Given the description of an element on the screen output the (x, y) to click on. 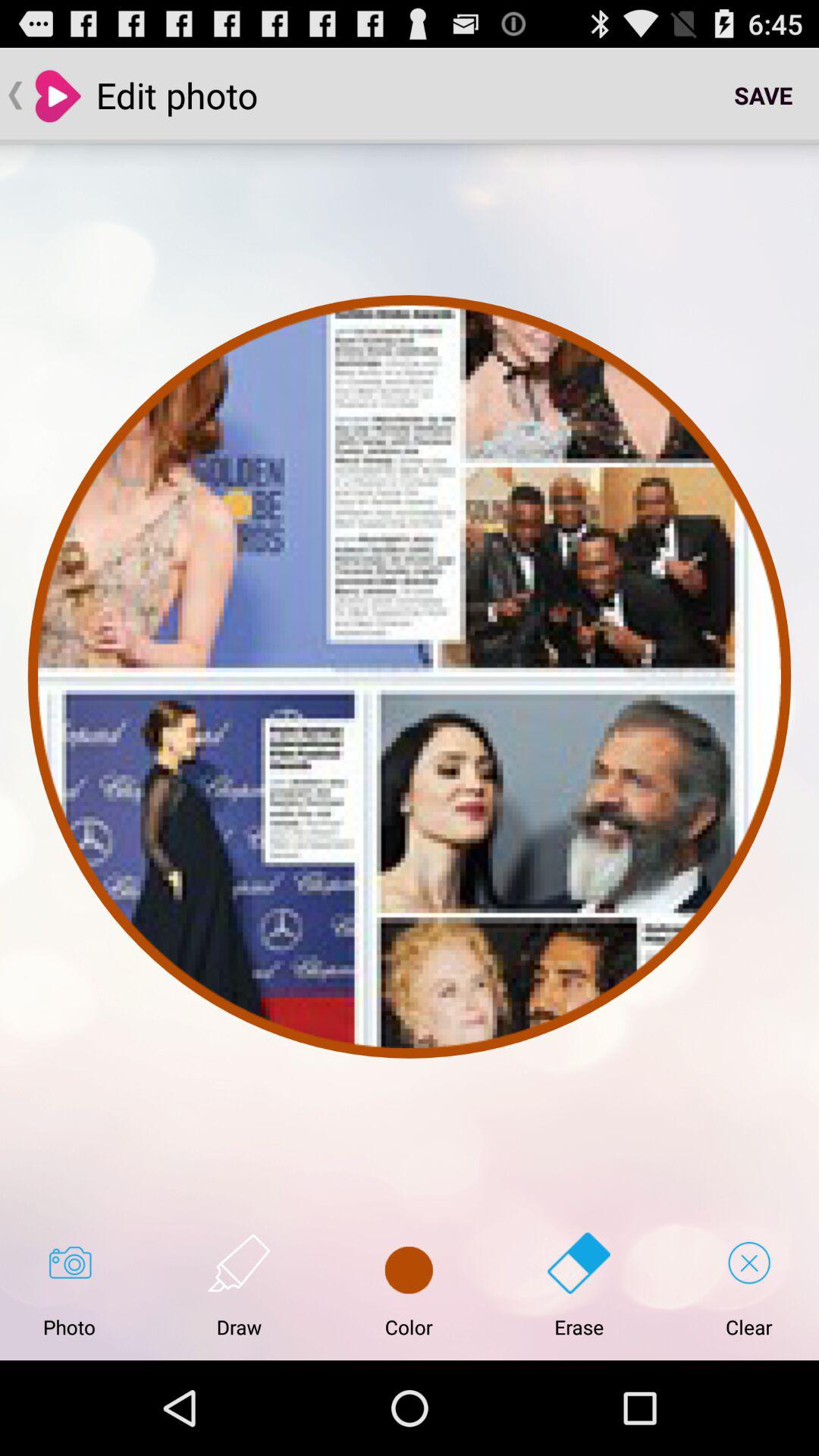
launch save (763, 95)
